Given the description of an element on the screen output the (x, y) to click on. 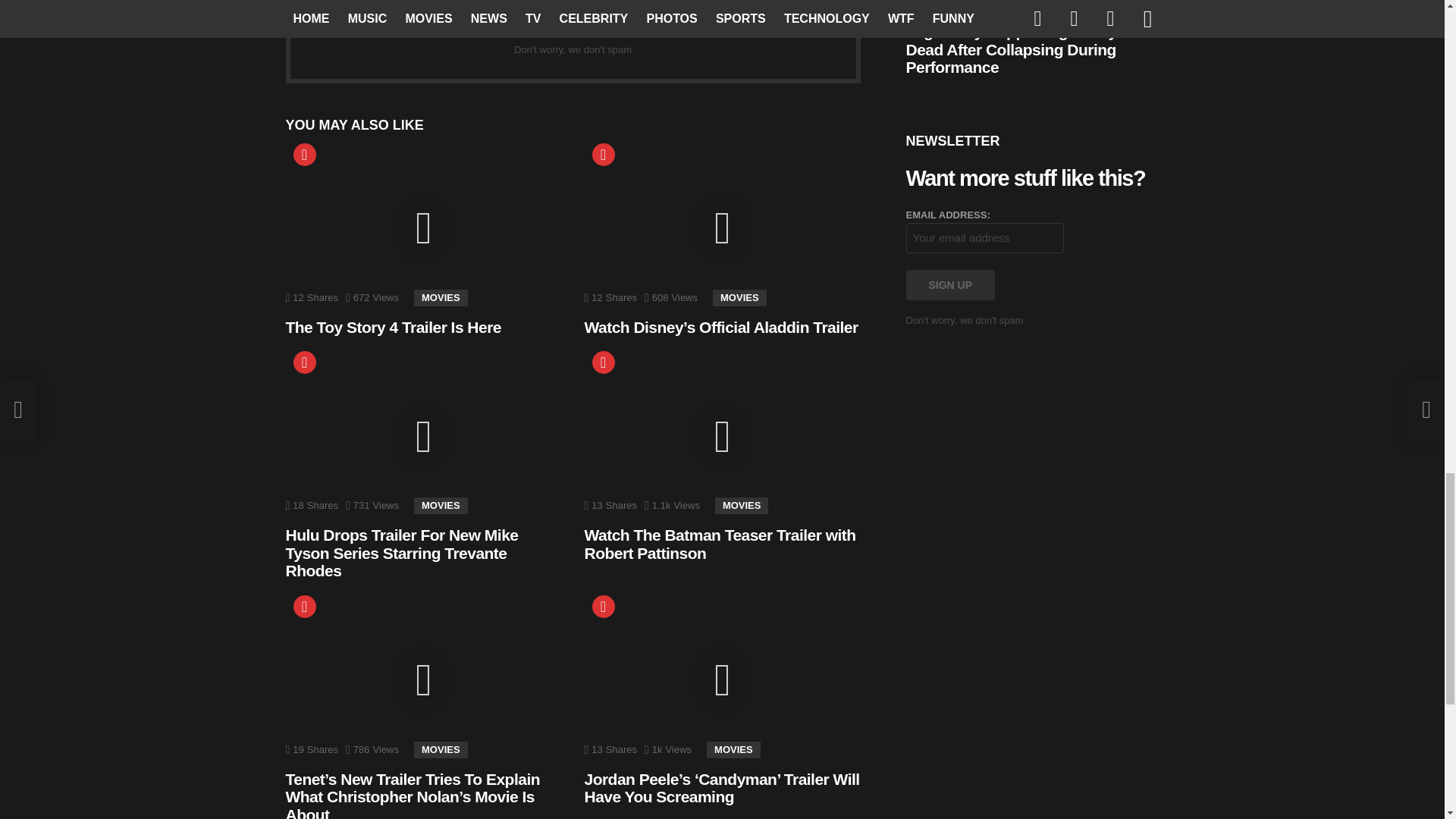
Popular (602, 606)
The Toy Story 4 Trailer Is Here (392, 326)
Hot (303, 362)
Sign up (949, 285)
MOVIES (440, 750)
MOVIES (733, 750)
Hot (602, 362)
MOVIES (740, 297)
Hot (303, 606)
Popular (602, 154)
Watch The Batman Teaser Trailer with Robert Pattinson (719, 543)
MOVIES (440, 297)
MOVIES (440, 505)
Sign up (737, 22)
